Given the description of an element on the screen output the (x, y) to click on. 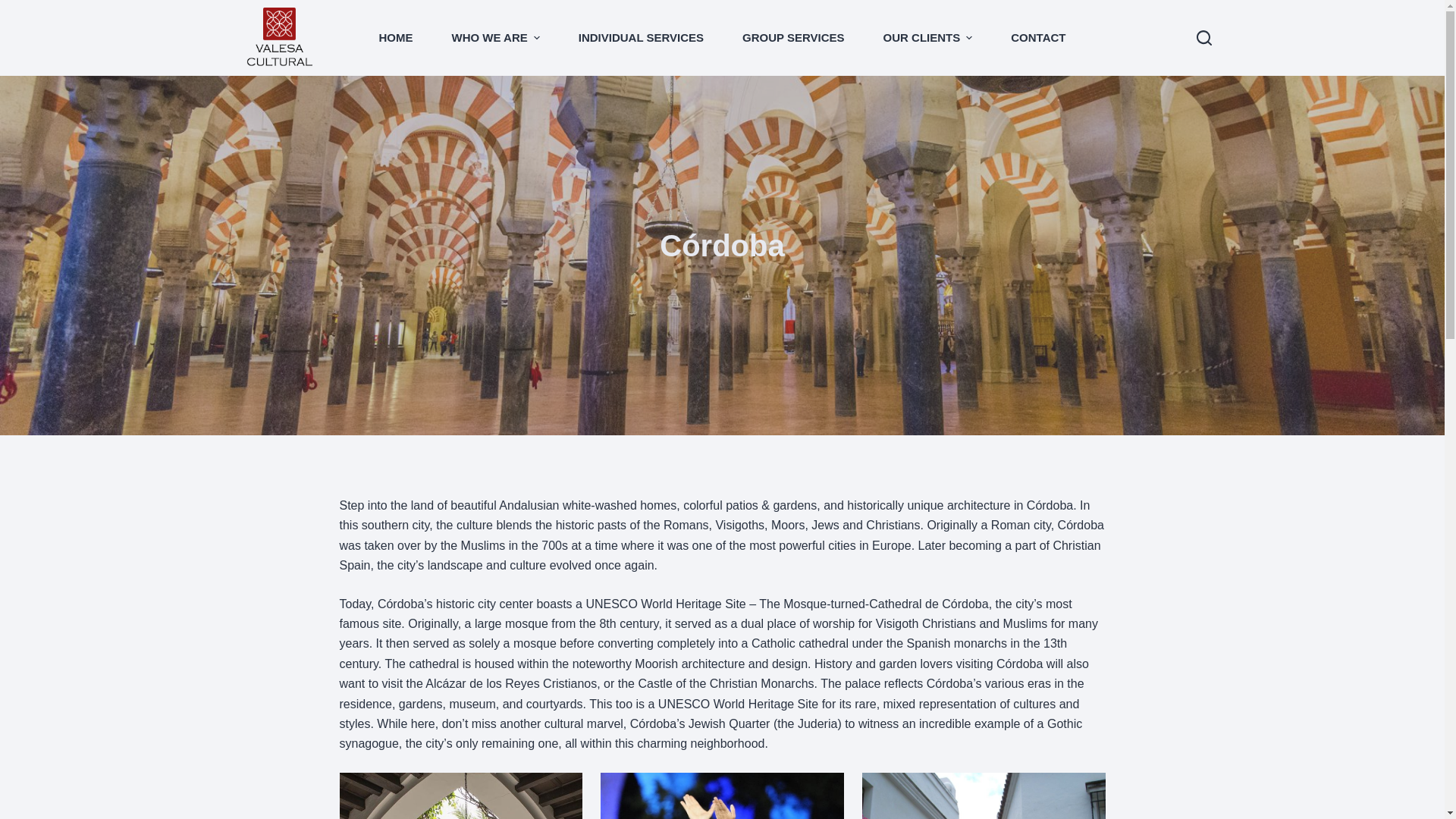
Skip to content (15, 7)
CONTACT (1037, 38)
GROUP SERVICES (793, 38)
INDIVIDUAL SERVICES (640, 38)
HOME (395, 38)
WHO WE ARE (495, 38)
OUR CLIENTS (927, 38)
